Given the description of an element on the screen output the (x, y) to click on. 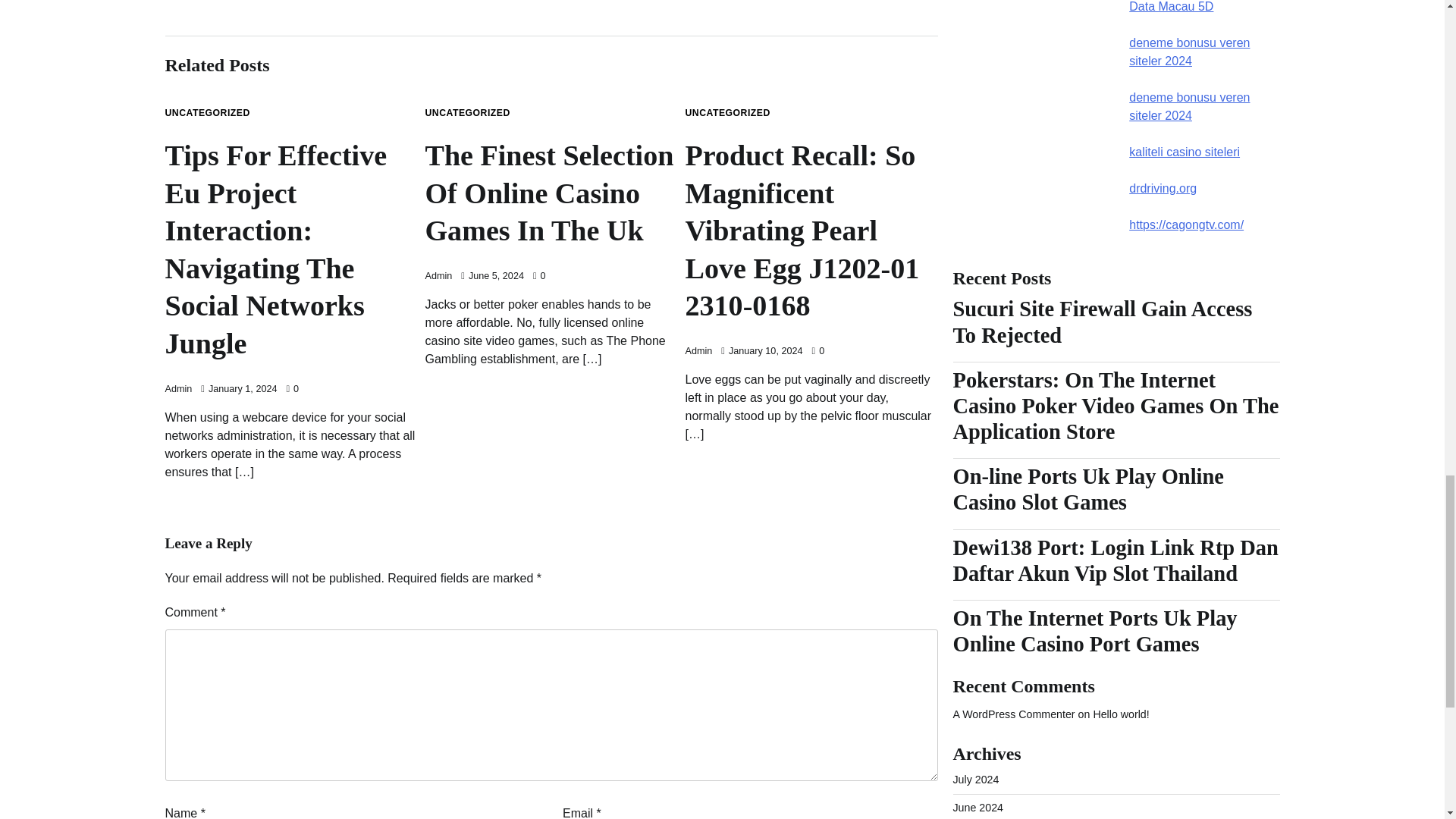
UNCATEGORIZED (467, 112)
Admin (699, 350)
Admin (178, 388)
UNCATEGORIZED (727, 112)
The Finest Selection Of Online Casino Games In The Uk (551, 193)
Admin (438, 276)
UNCATEGORIZED (207, 112)
